Given the description of an element on the screen output the (x, y) to click on. 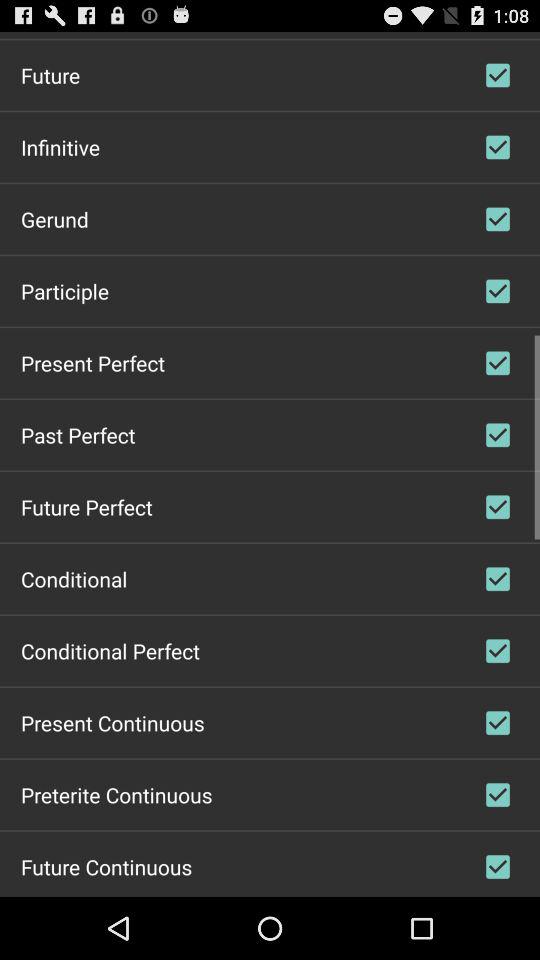
swipe until present perfect item (92, 362)
